Given the description of an element on the screen output the (x, y) to click on. 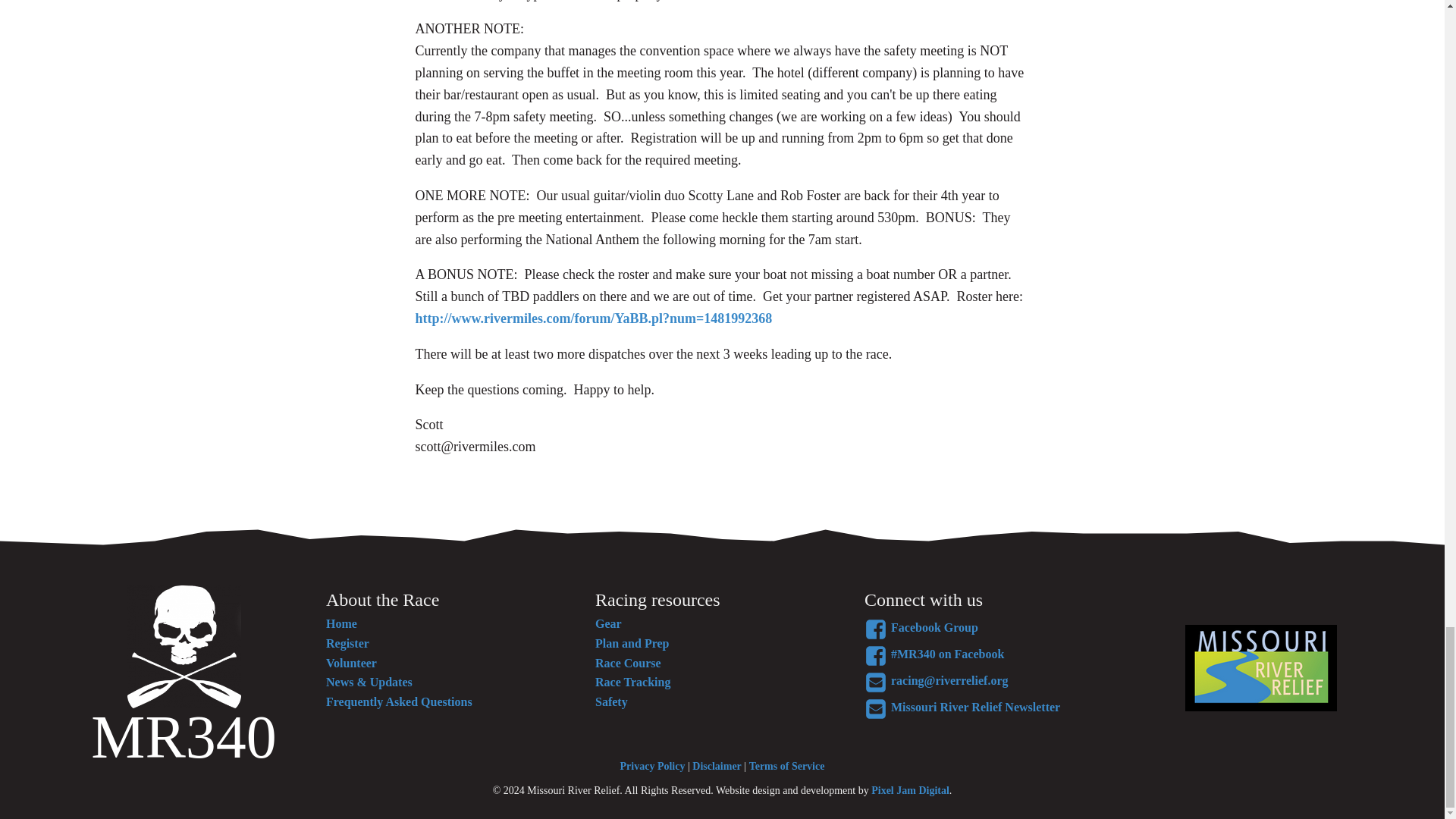
Race Course (632, 663)
Facebook Group (1001, 629)
Privacy Policy (652, 766)
Safety (632, 701)
Missouri River Relief Newsletter (1001, 708)
Terms of Service (787, 766)
Pixel Jam Digital (909, 790)
Disclaimer (717, 766)
Gear (632, 623)
Volunteer (398, 663)
Website design and development by Pixel Jam Digital (909, 790)
Frequently Asked Questions (398, 701)
Home (398, 623)
Race Tracking (632, 682)
Register (398, 643)
